Given the description of an element on the screen output the (x, y) to click on. 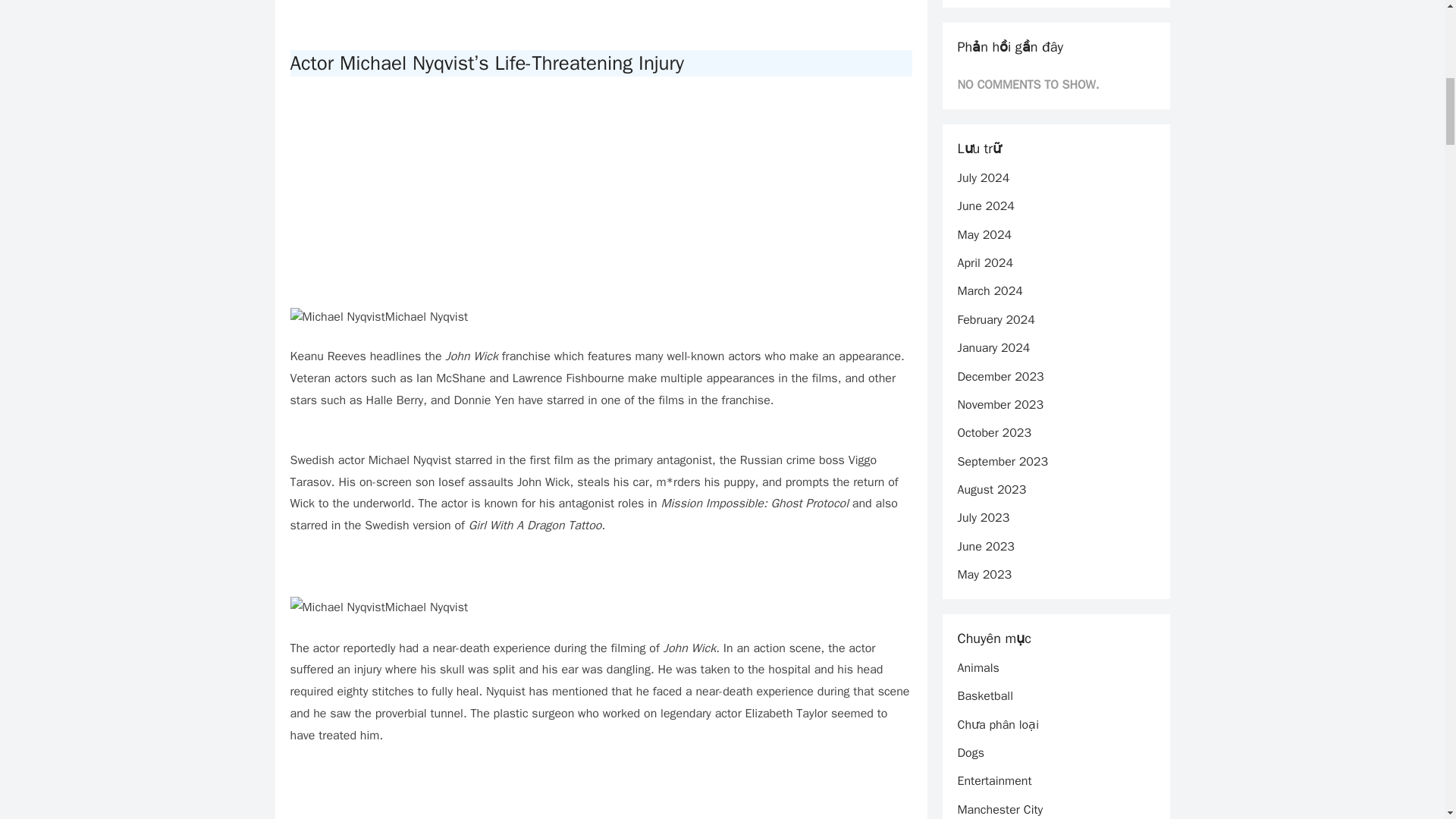
Advertisement (600, 201)
Advertisement (600, 15)
